Given the description of an element on the screen output the (x, y) to click on. 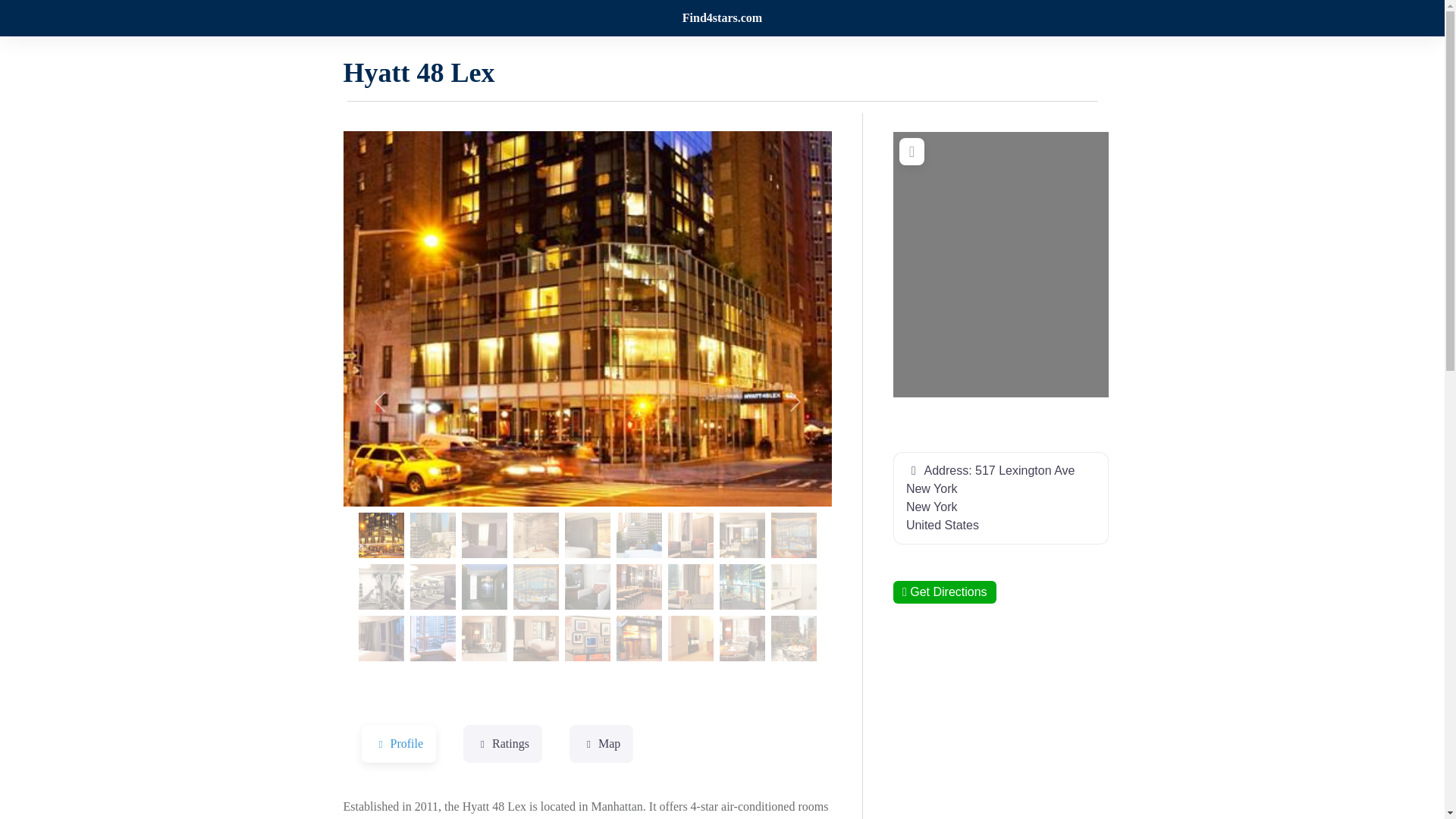
Find4stars.com (721, 17)
Map (601, 743)
Profile (398, 743)
Ratings (502, 743)
Ratings (502, 743)
Get Directions (944, 591)
Map (601, 743)
Profile (398, 743)
